Given the description of an element on the screen output the (x, y) to click on. 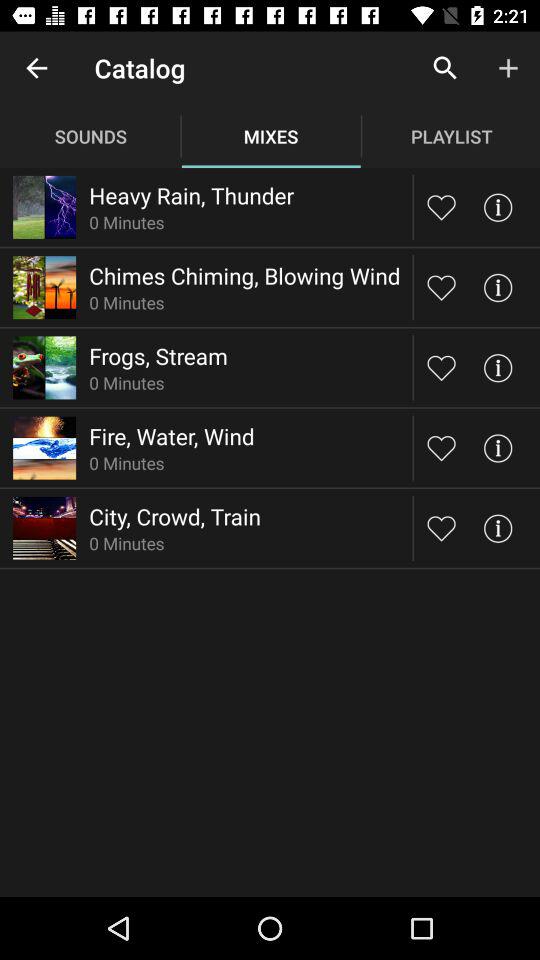
info for chimes chiming blowing wind (498, 287)
